Given the description of an element on the screen output the (x, y) to click on. 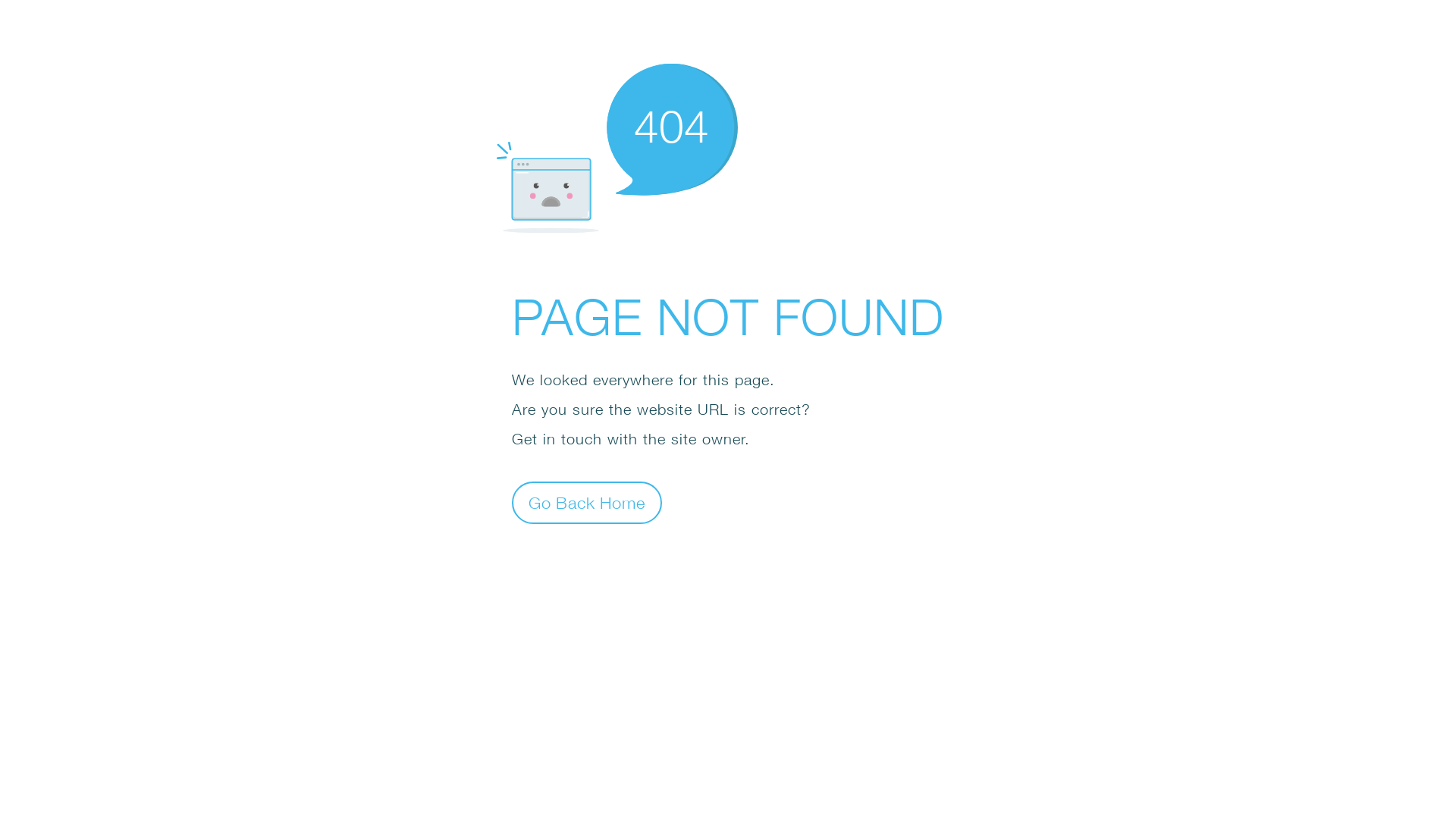
Go Back Home Element type: text (586, 502)
